Given the description of an element on the screen output the (x, y) to click on. 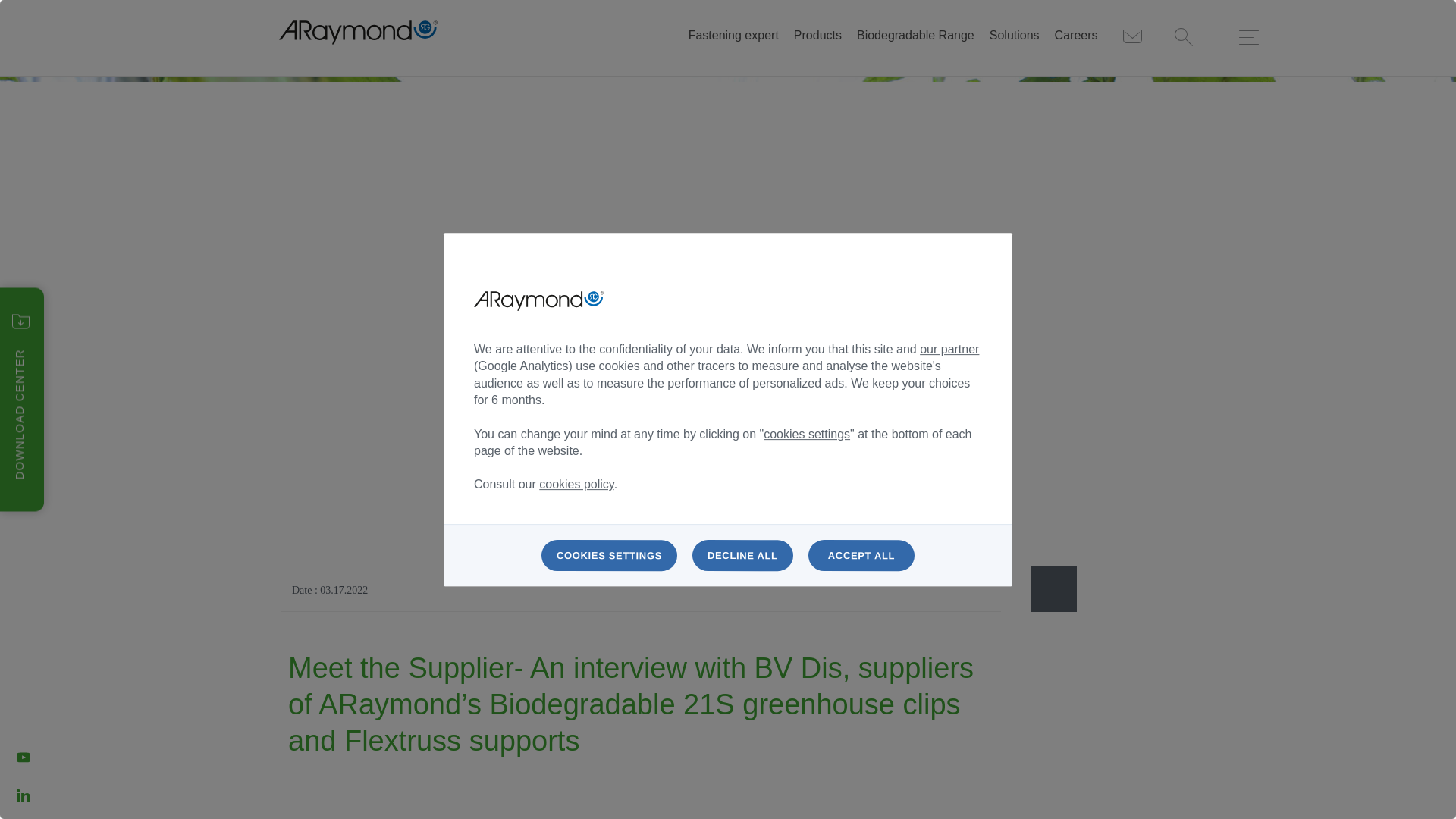
Partager sur Facebook (1053, 588)
cookies settings (806, 433)
Home (358, 32)
ACCEPT ALL (861, 554)
Solutions (1014, 36)
DECLINE ALL (743, 554)
Biodegradable Range (915, 36)
Careers (1075, 36)
COOKIES SETTINGS (609, 554)
Fastening expert (733, 36)
Contact (1131, 37)
cookies policy (575, 483)
Products (817, 36)
our partner (949, 349)
